Given the description of an element on the screen output the (x, y) to click on. 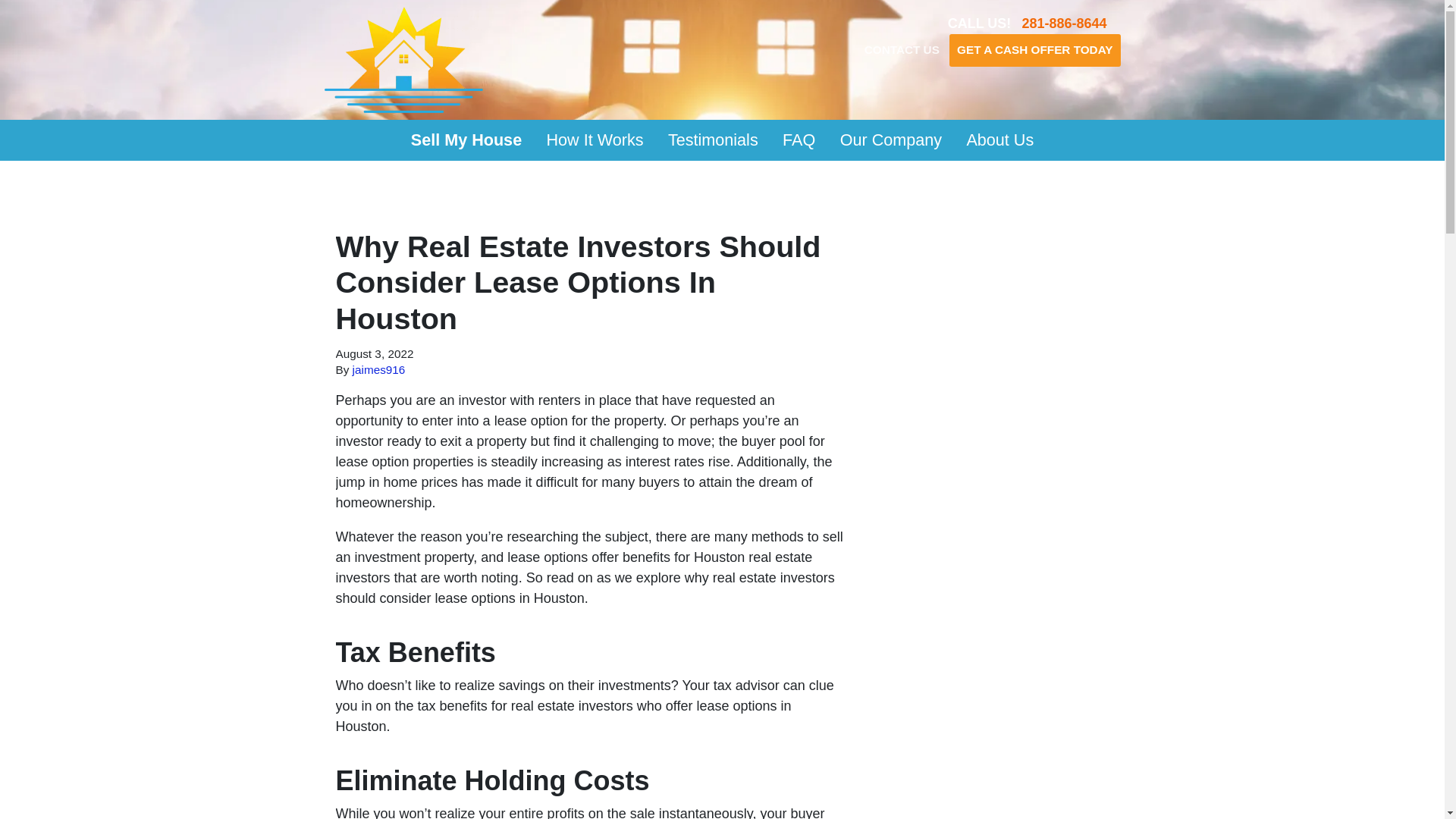
Sell My House (466, 139)
About Us (999, 139)
How It Works (594, 139)
CONTACT US (901, 51)
281-886-8644 (1063, 23)
Testimonials (713, 139)
jaimes916 (379, 369)
About Us (999, 139)
FAQ (799, 139)
Our Company (890, 139)
Our Company (890, 139)
Sell My House (466, 139)
FAQ (799, 139)
GET A CASH OFFER TODAY (1034, 50)
How It Works (594, 139)
